Given the description of an element on the screen output the (x, y) to click on. 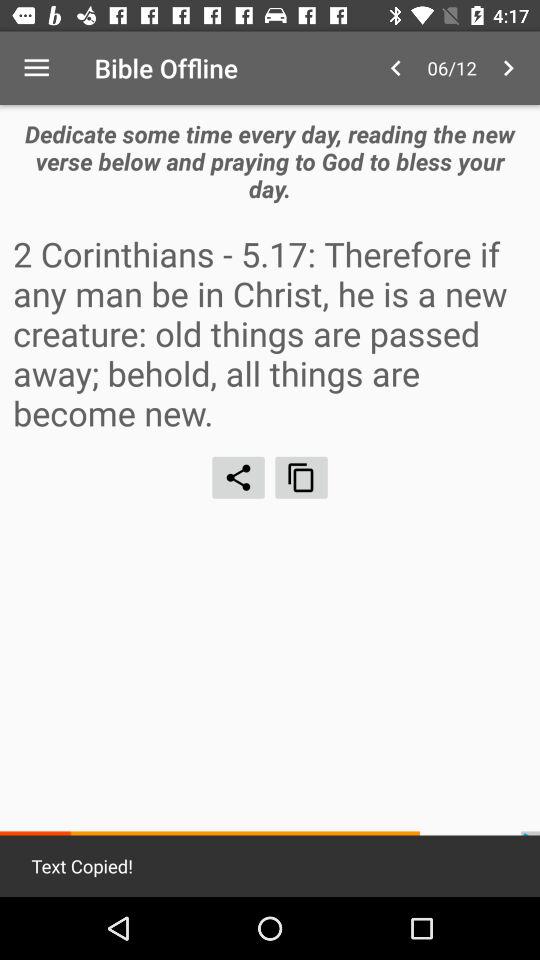
choose the icon to the left of bible offline item (36, 68)
